Given the description of an element on the screen output the (x, y) to click on. 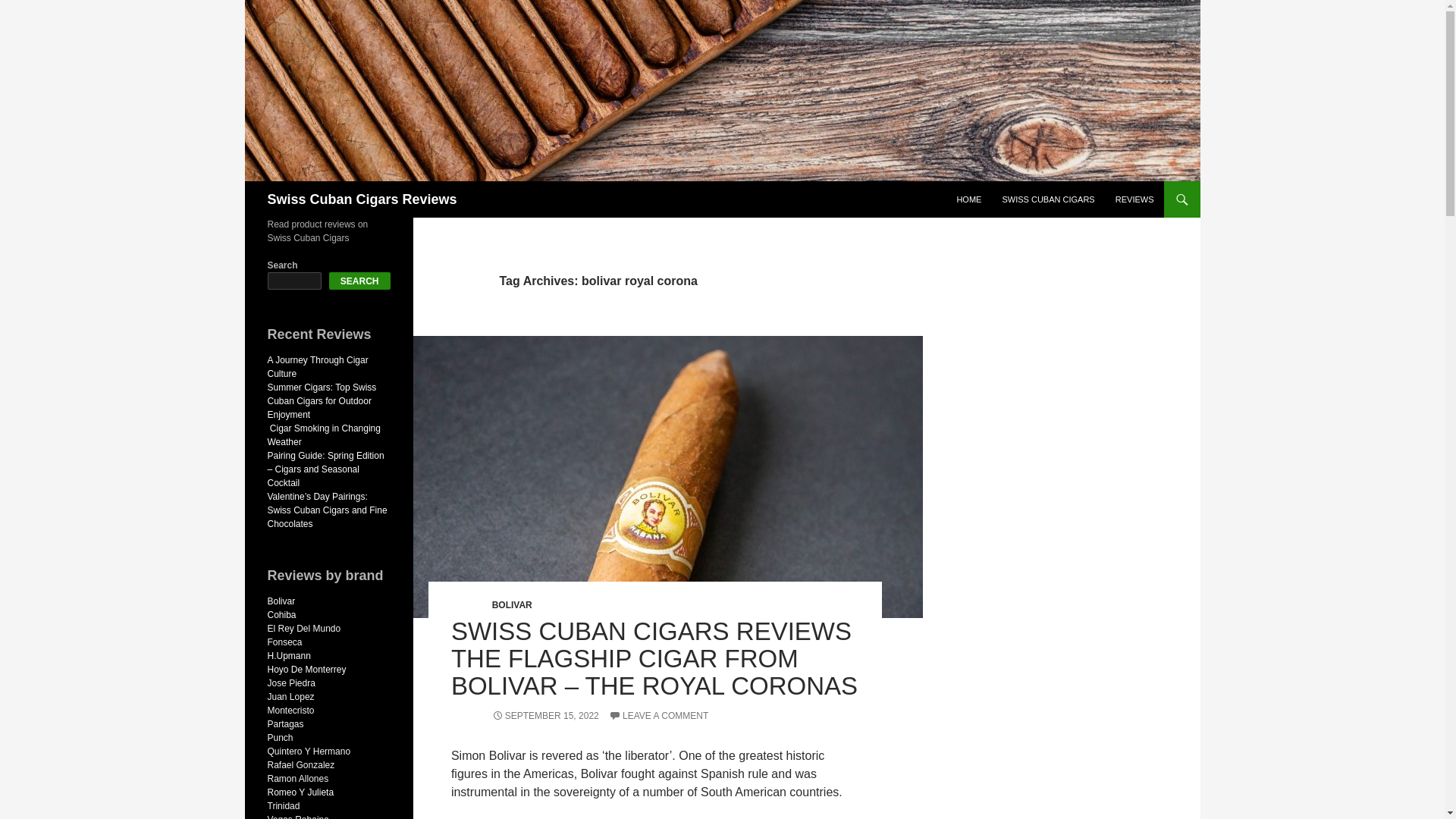
SEARCH (359, 280)
Romeo Y Julieta (299, 792)
HOME (968, 198)
Bolivar (280, 601)
LEAVE A COMMENT (657, 715)
A Journey Through Cigar Culture (317, 366)
SEPTEMBER 15, 2022 (545, 715)
Swiss Cuban Cigars Reviews (361, 198)
